Given the description of an element on the screen output the (x, y) to click on. 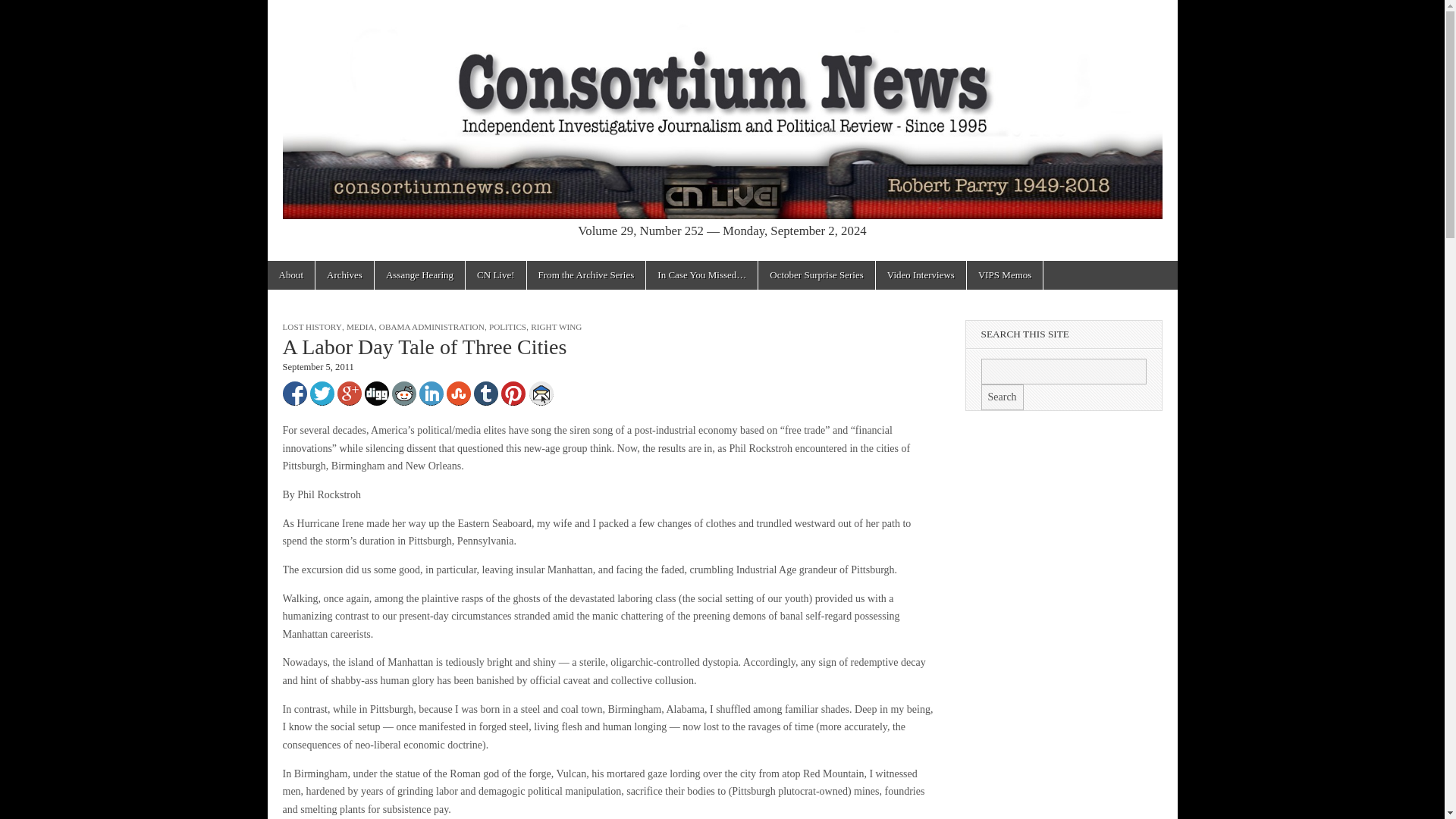
LOST HISTORY (311, 326)
October Surprise Series (816, 275)
Search (1002, 397)
Share to Twitter (320, 393)
Share to Pinterest (512, 393)
Search (1002, 397)
RIGHT WING (555, 326)
About (290, 275)
Share to Digg (376, 393)
MEDIA (360, 326)
